Given the description of an element on the screen output the (x, y) to click on. 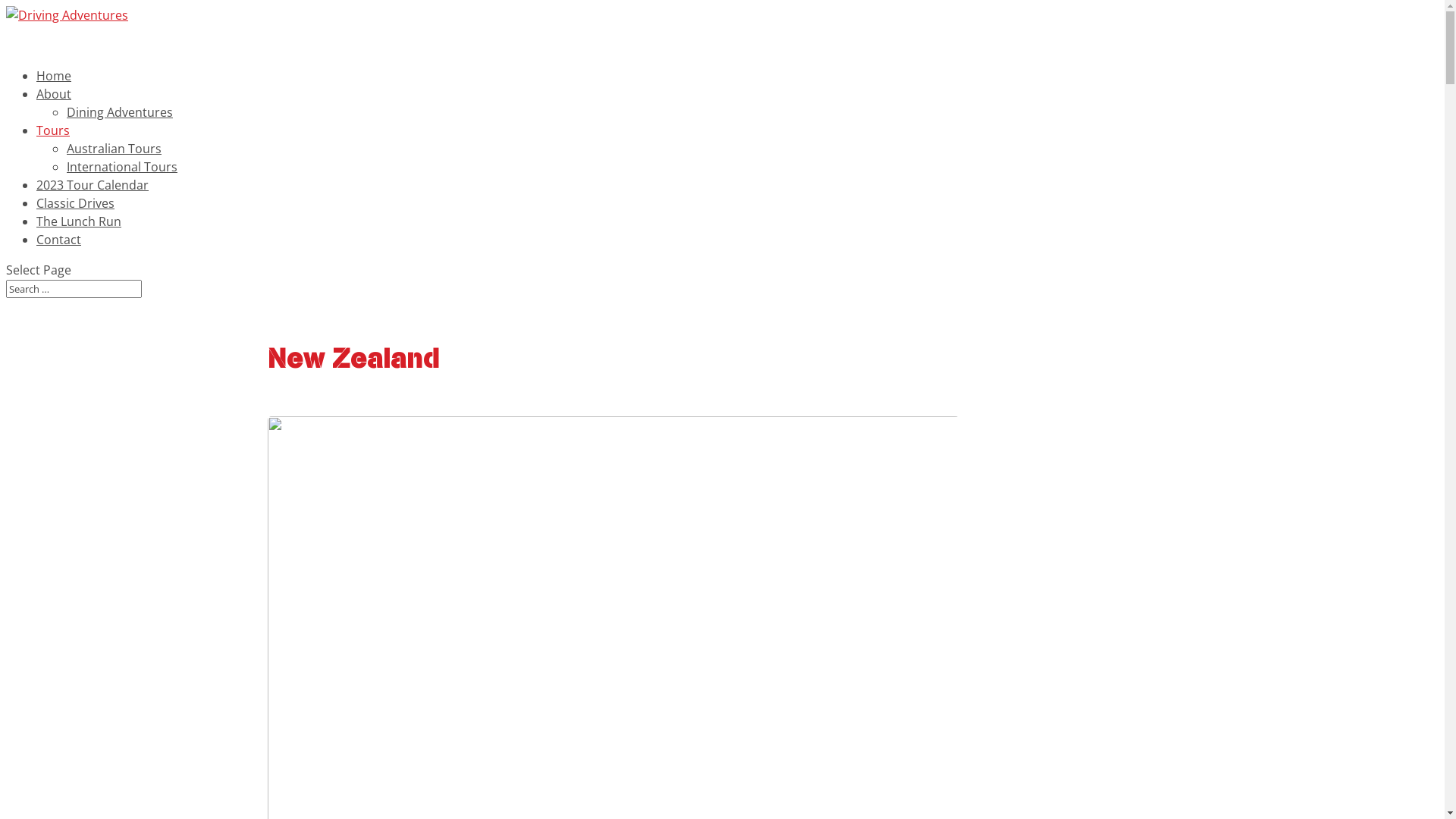
Home Element type: text (53, 90)
2023 Tour Calendar Element type: text (92, 199)
Dining Adventures Element type: text (119, 111)
Classic Drives Element type: text (75, 217)
Search for: Element type: hover (73, 288)
Contact Element type: text (58, 254)
Australian Tours Element type: text (113, 148)
International Tours Element type: text (121, 166)
The Lunch Run Element type: text (78, 236)
Tours Element type: text (52, 145)
About Element type: text (53, 108)
